Given the description of an element on the screen output the (x, y) to click on. 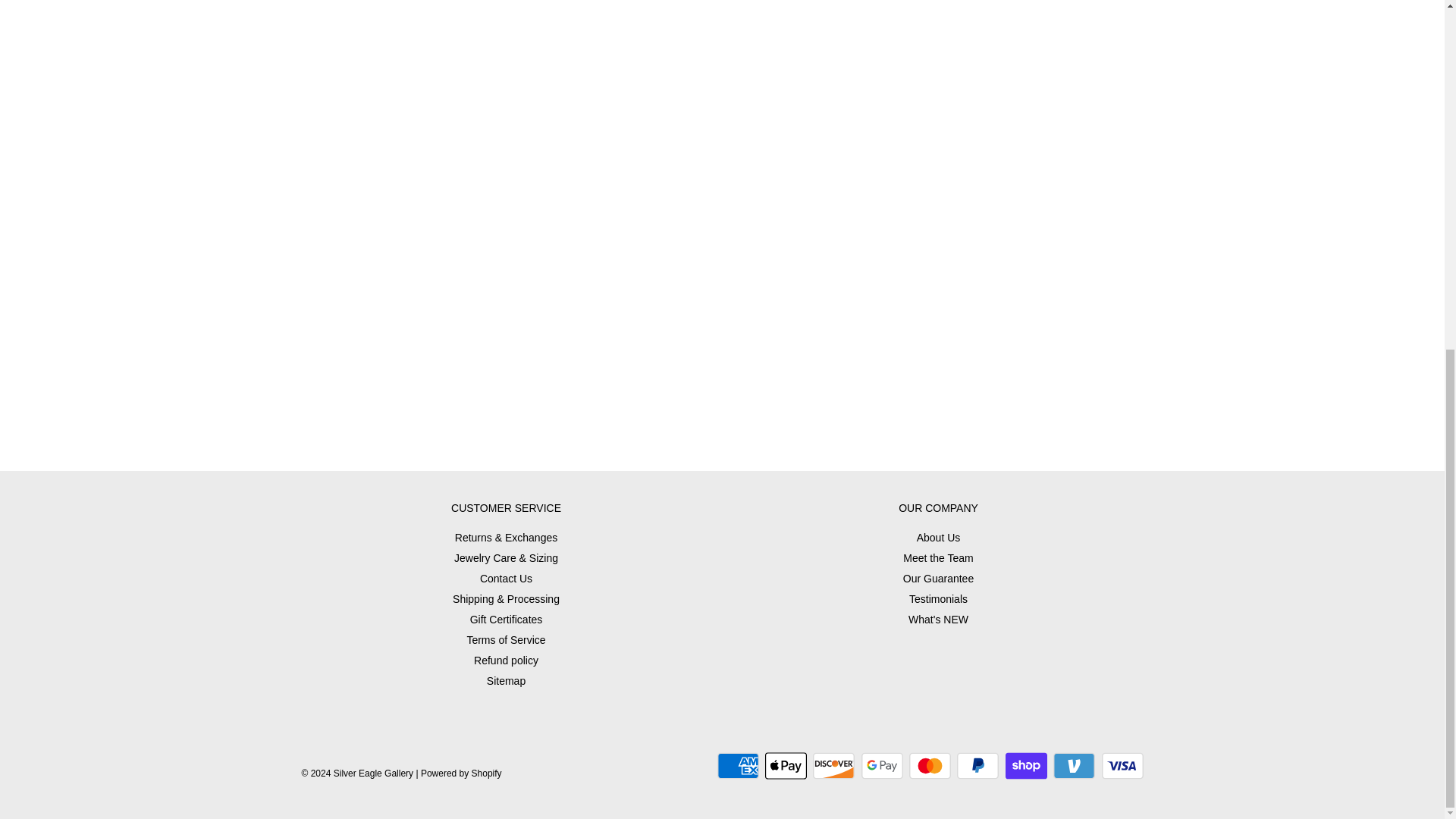
Venmo (1073, 766)
Discover (833, 766)
Google Pay (881, 766)
PayPal (977, 766)
Shop Pay (1026, 766)
Mastercard (929, 766)
American Express (737, 766)
Visa (1121, 766)
Apple Pay (785, 766)
